Given the description of an element on the screen output the (x, y) to click on. 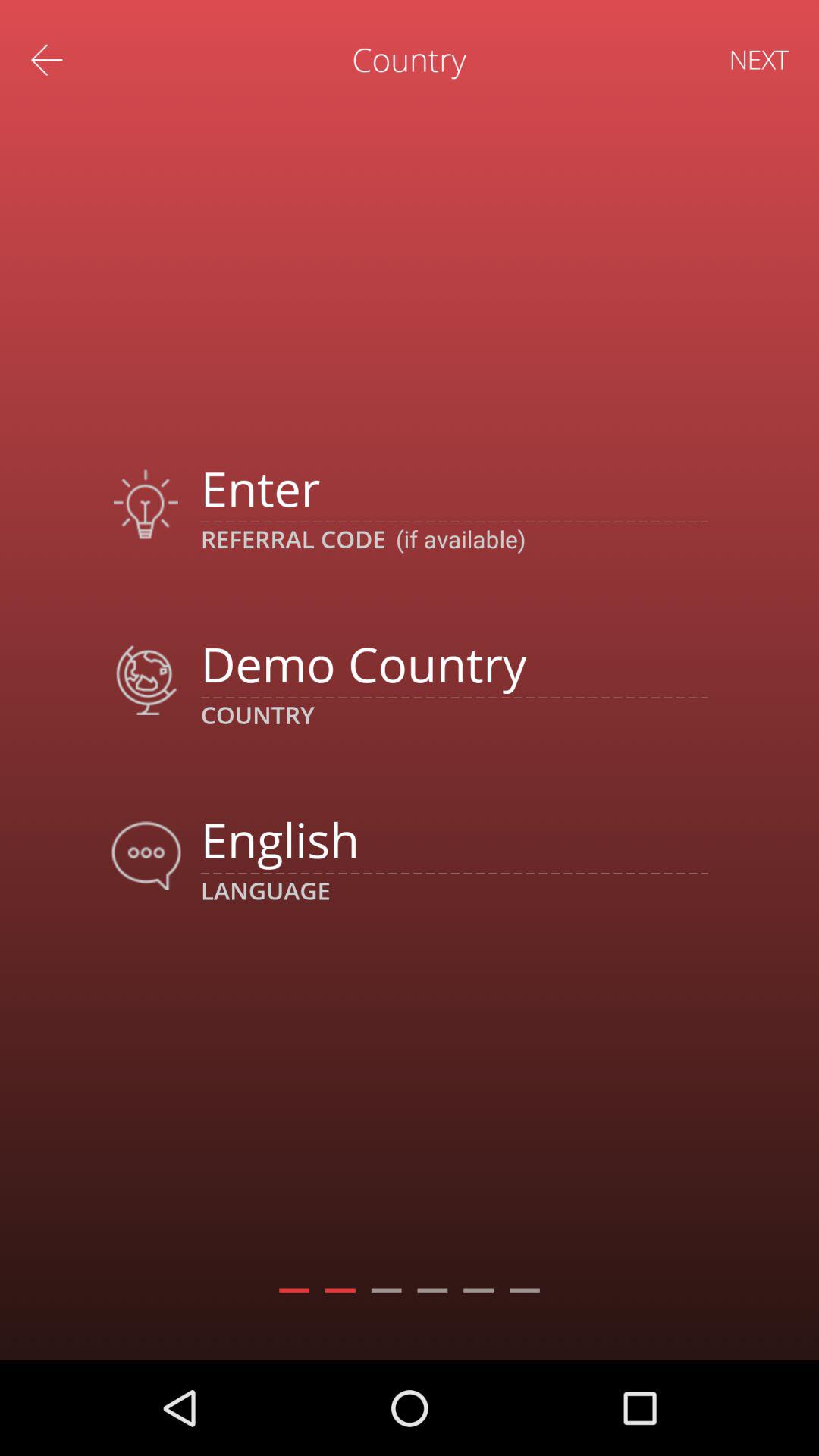
move to icon which is left to text english (145, 856)
